Given the description of an element on the screen output the (x, y) to click on. 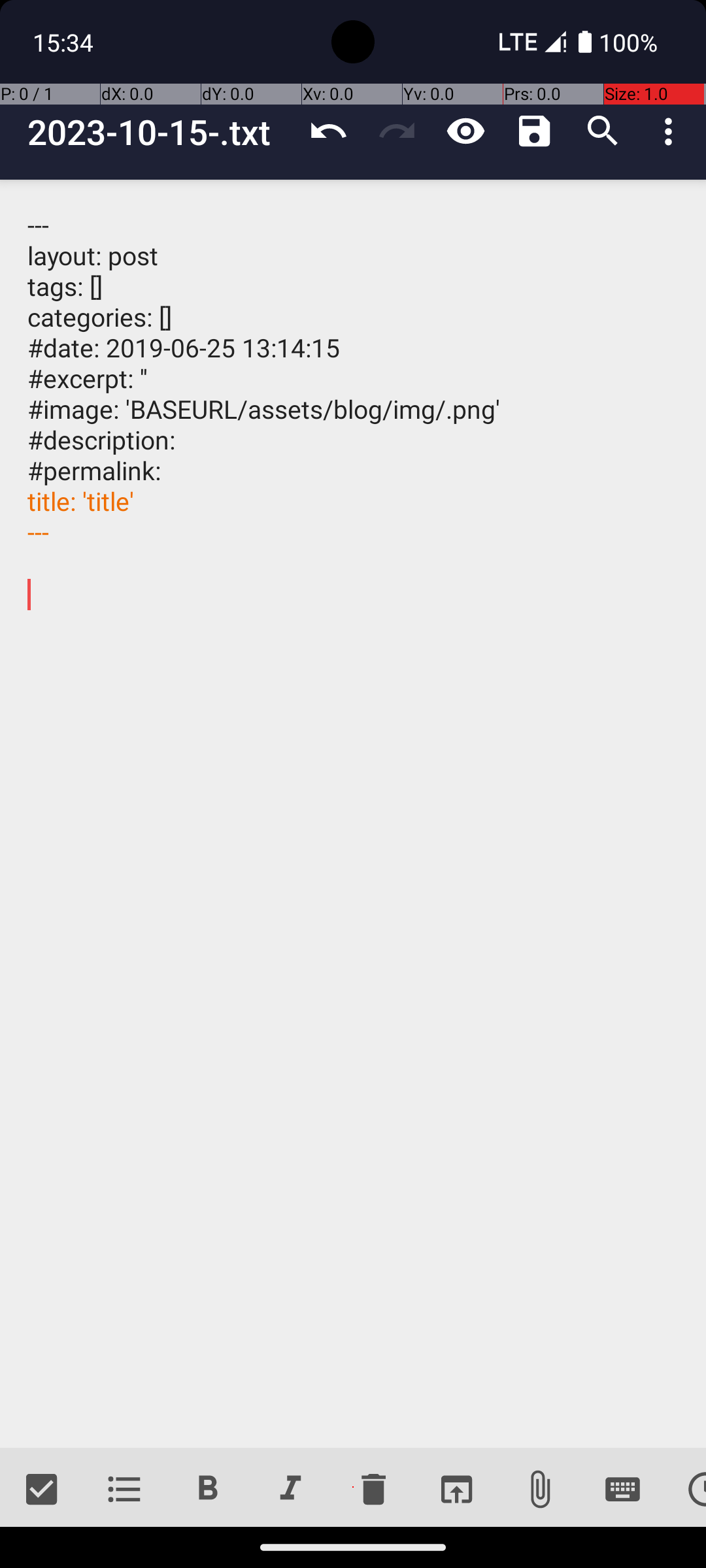
2023-10-15-.txt Element type: android.widget.TextView (160, 131)
---
layout: post
tags: []
categories: []
#date: 2019-06-25 13:14:15
#excerpt: ''
#image: 'BASEURL/assets/blog/img/.png'
#description:
#permalink:
title: 'title'
---

 Element type: android.widget.EditText (353, 813)
